Given the description of an element on the screen output the (x, y) to click on. 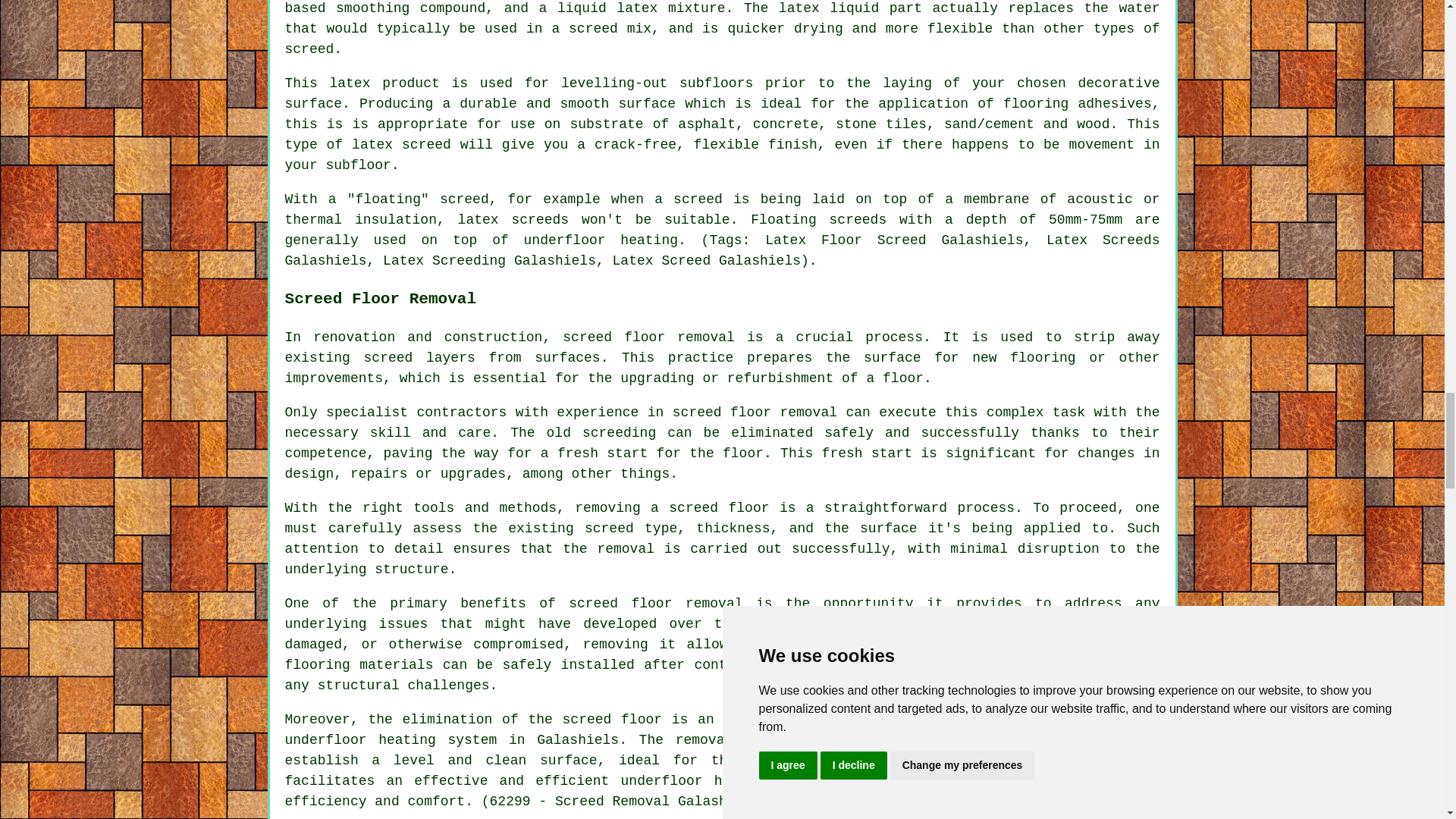
flooring materials (359, 664)
screed floor removal (648, 337)
contractors (1086, 739)
